Given the description of an element on the screen output the (x, y) to click on. 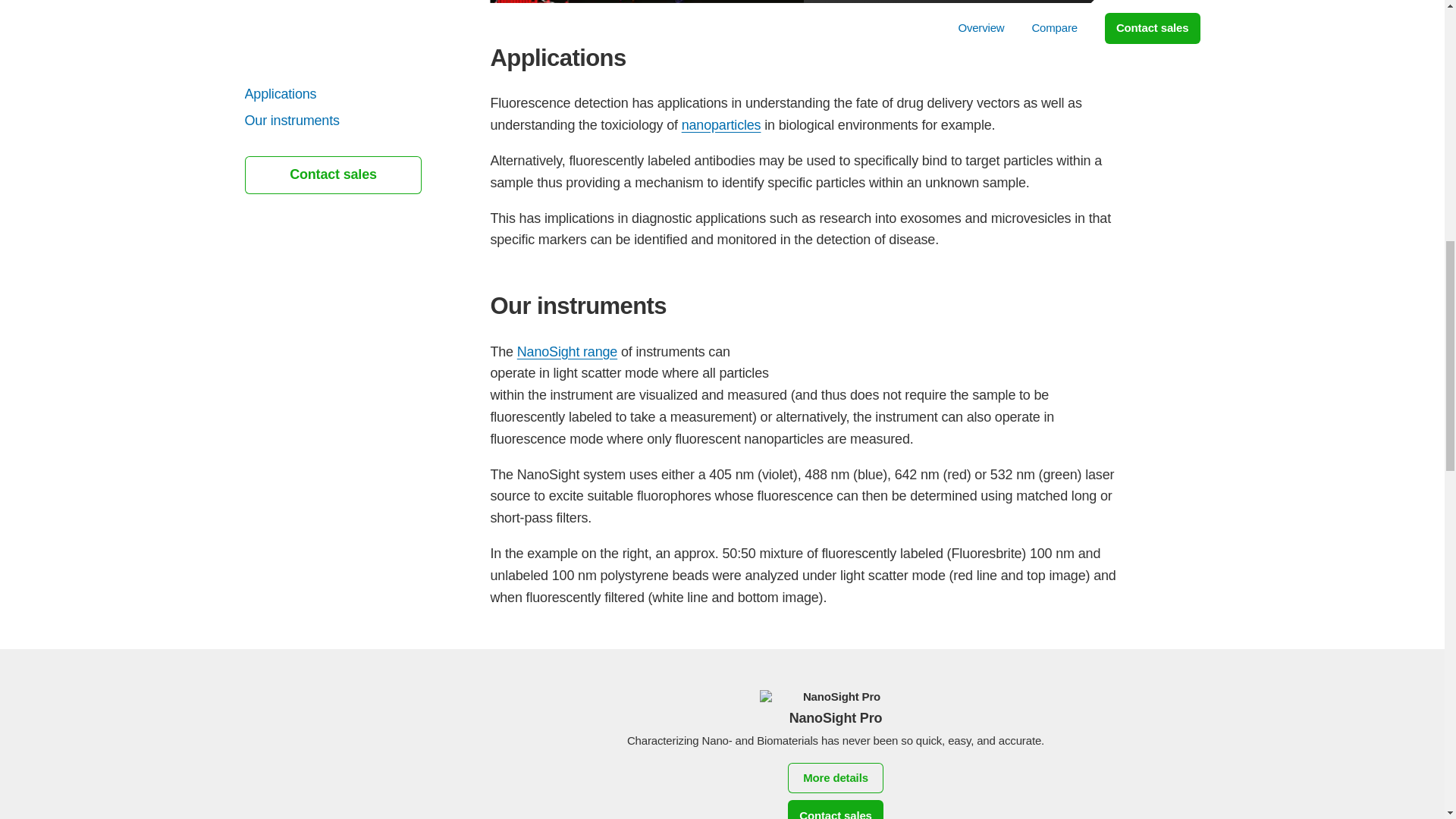
NanoSight range (566, 351)
Contact sales (835, 809)
nanoparticles (721, 124)
Nanomaterials (721, 124)
More details (835, 777)
NanoSight range (566, 351)
